Given the description of an element on the screen output the (x, y) to click on. 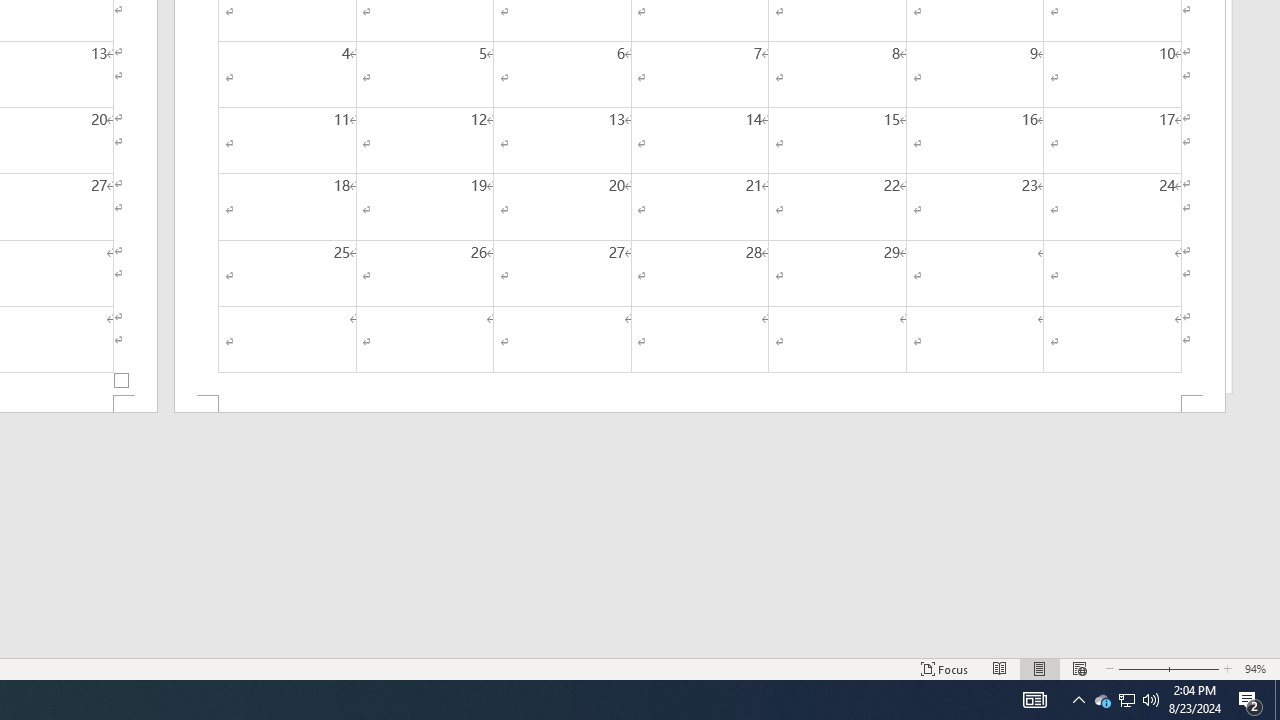
Footer -Section 2- (700, 404)
